Given the description of an element on the screen output the (x, y) to click on. 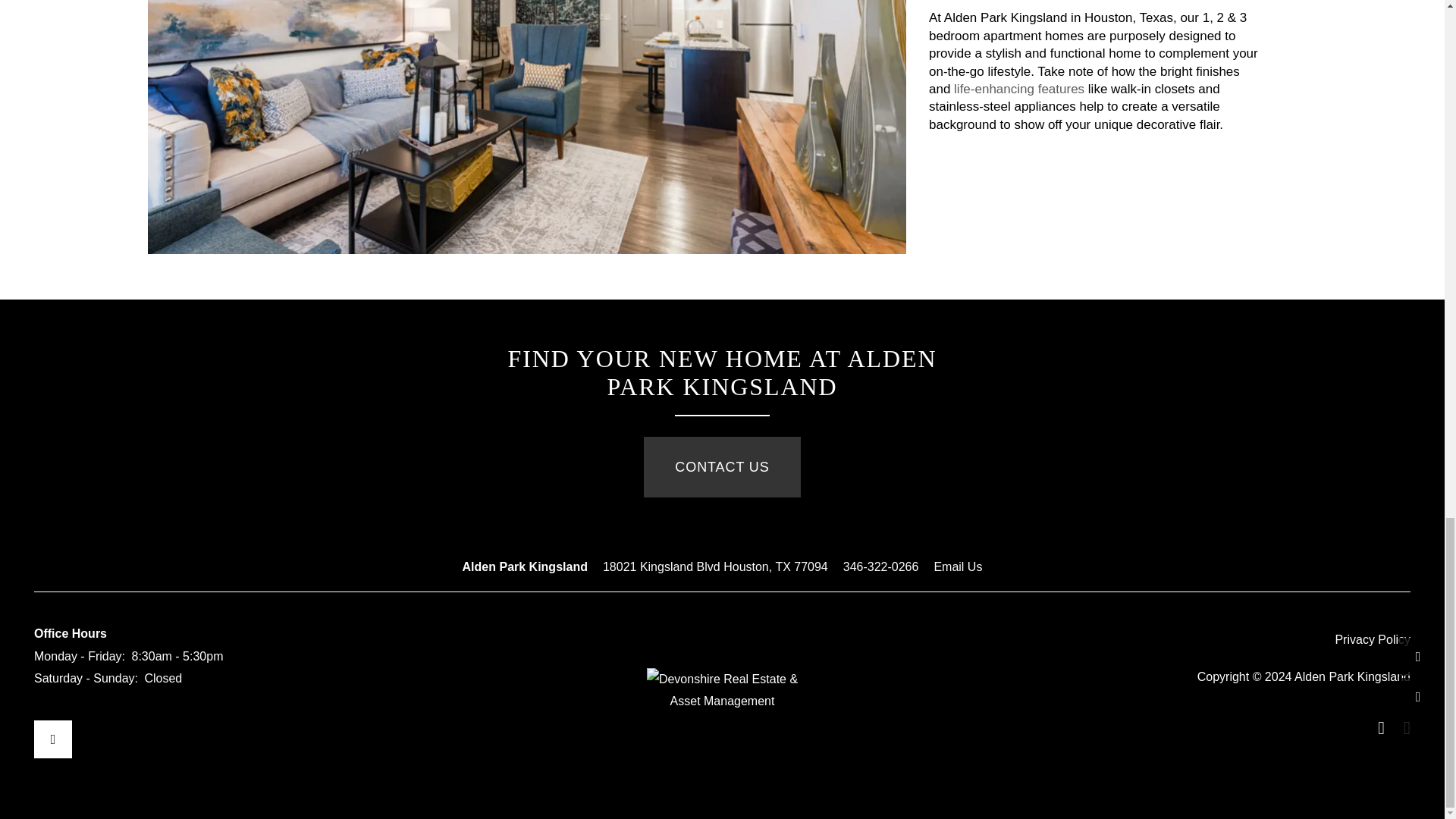
Handicap Friendly (1400, 728)
Equal Opportunity Housing (1375, 728)
346-322-0266 (880, 566)
CONTACT US (721, 466)
Email Us (957, 566)
Privacy Policy (1372, 639)
life-enhancing features (1018, 88)
Google My Business (52, 739)
18021 Kingsland Blvd Houston, TX 77094 (715, 566)
